Given the description of an element on the screen output the (x, y) to click on. 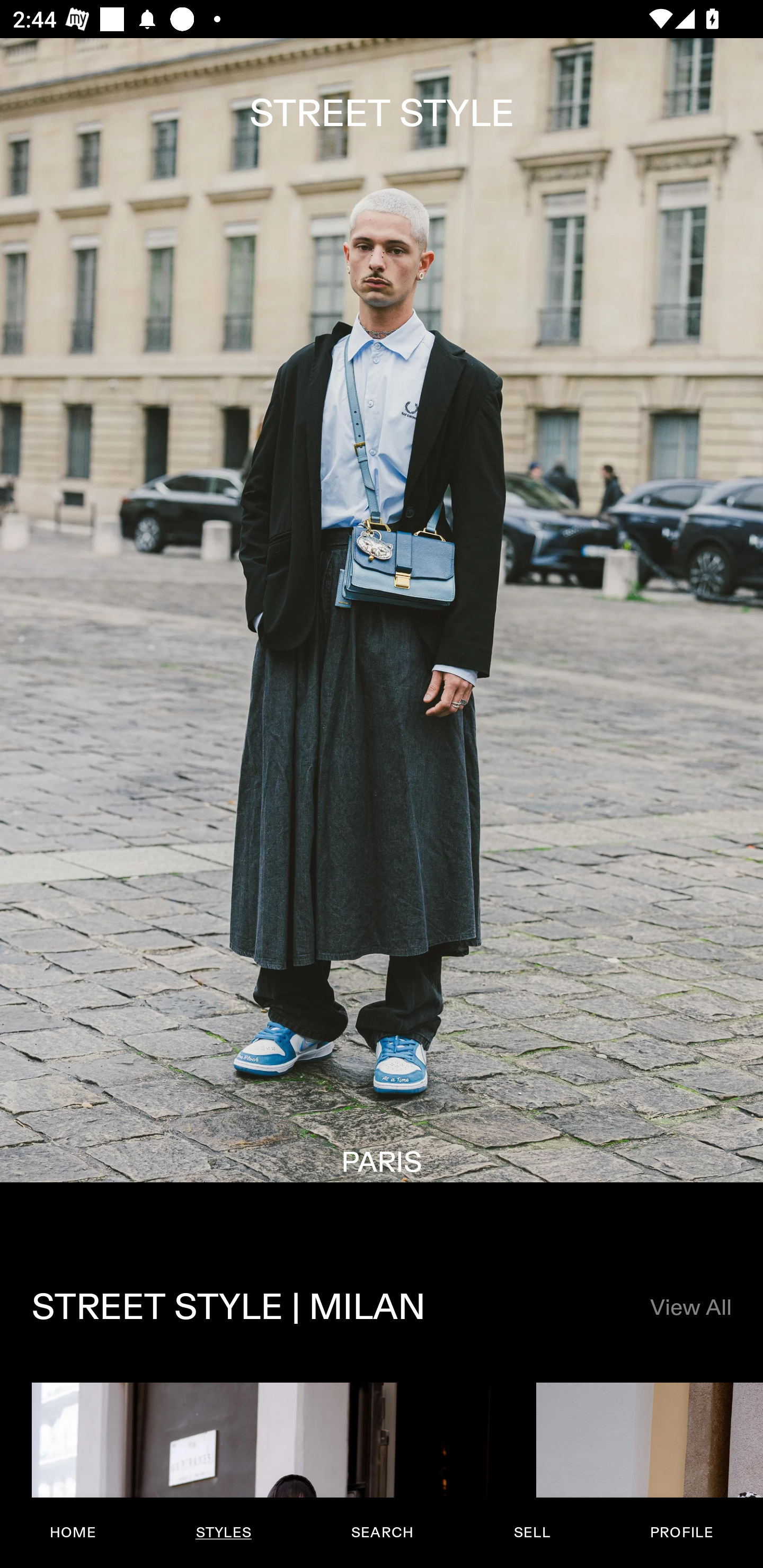
View All (690, 1308)
HOME (72, 1532)
STYLES (222, 1532)
SEARCH (381, 1532)
SELL (531, 1532)
PROFILE (681, 1532)
